Given the description of an element on the screen output the (x, y) to click on. 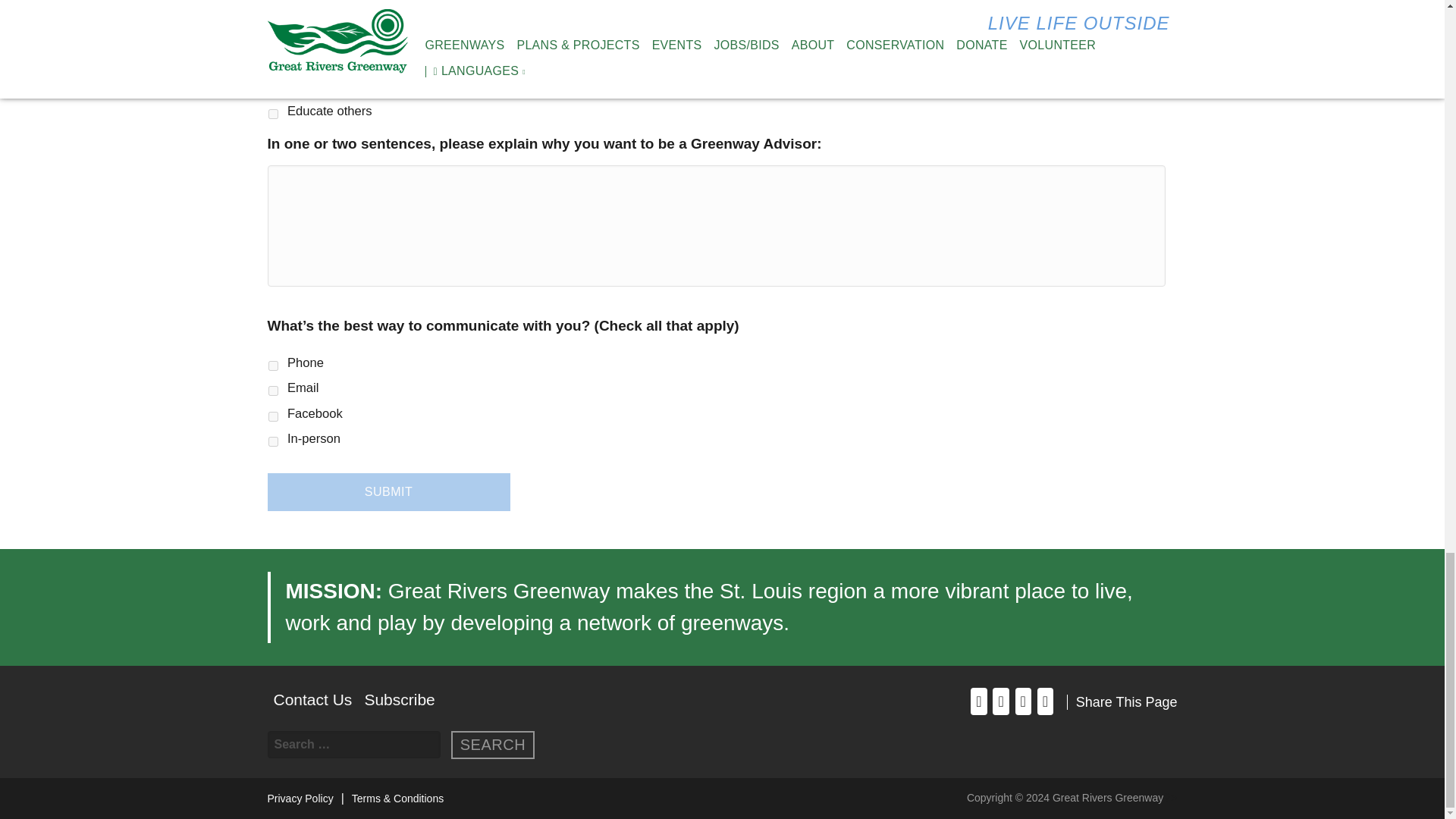
In-person (272, 441)
Email (272, 390)
Contact Us (312, 699)
Subscribe (398, 699)
Transportation (272, 38)
Access to water (272, 62)
Practice environmental stewardship (272, 88)
Phone (272, 366)
Educate others (272, 113)
Search (492, 745)
